Given the description of an element on the screen output the (x, y) to click on. 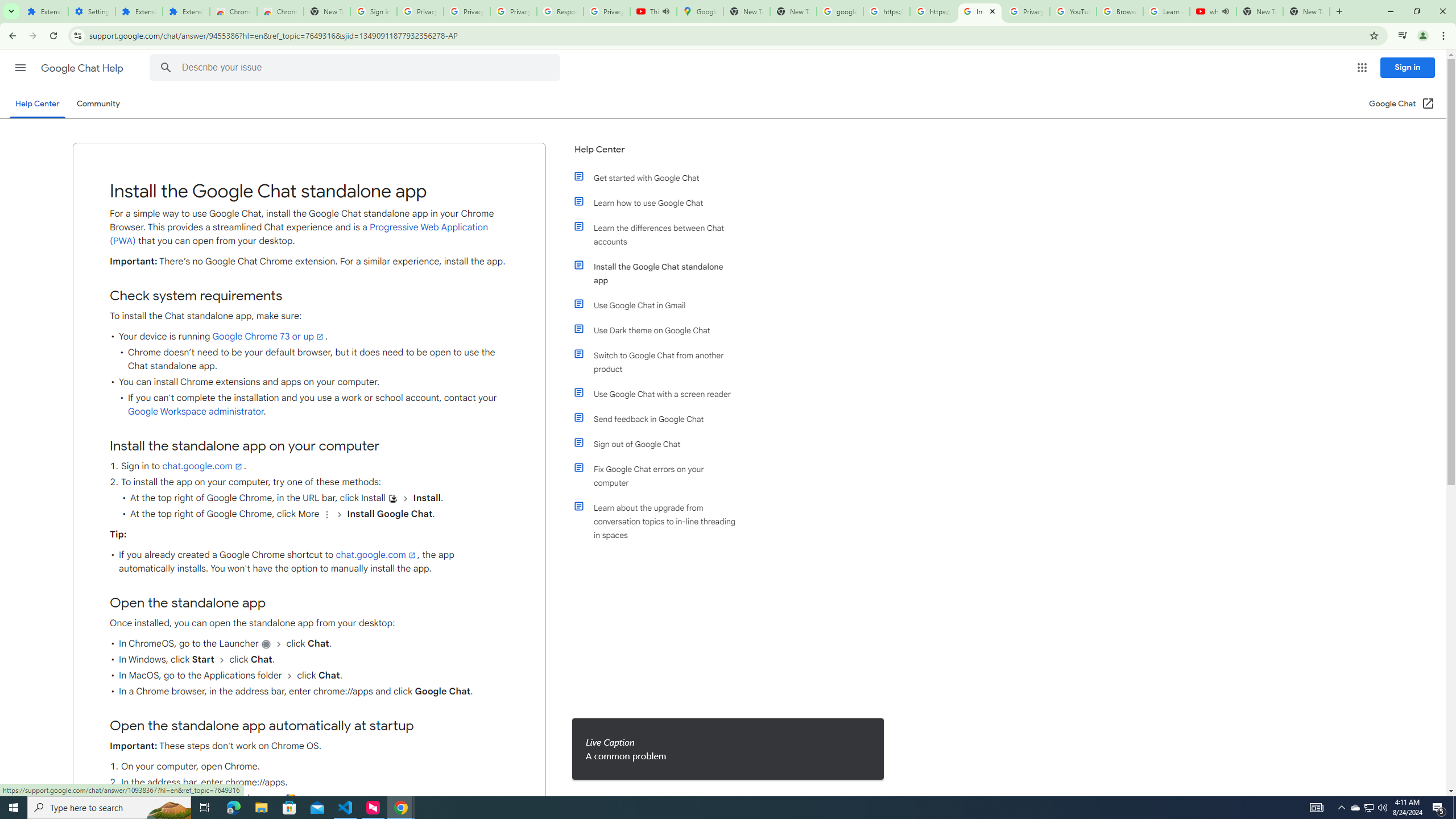
New Tab (1306, 11)
Google Maps (699, 11)
Settings (91, 11)
Fix Google Chat errors on your computer (661, 476)
Chrome Web Store (233, 11)
Sign in - Google Accounts (373, 11)
Main menu (20, 67)
https://scholar.google.com/ (933, 11)
